Given the description of an element on the screen output the (x, y) to click on. 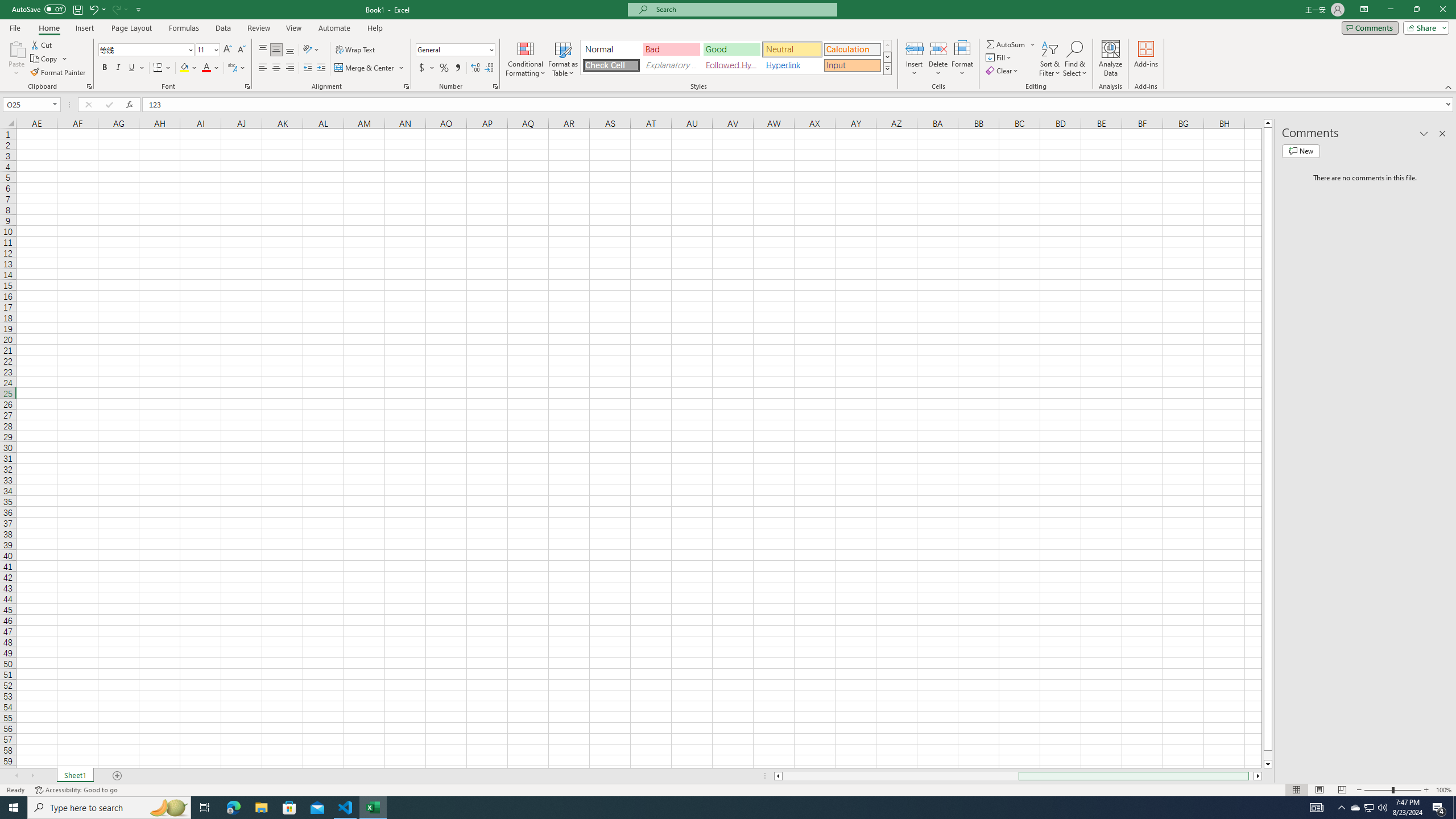
Merge & Center (369, 67)
Format Cell Font (247, 85)
Font Color RGB(255, 0, 0) (206, 67)
Fill (999, 56)
Formula Bar (799, 104)
Copy (45, 58)
Fill Color RGB(255, 255, 0) (183, 67)
Delete (938, 58)
Underline (131, 67)
Top Align (262, 49)
